Given the description of an element on the screen output the (x, y) to click on. 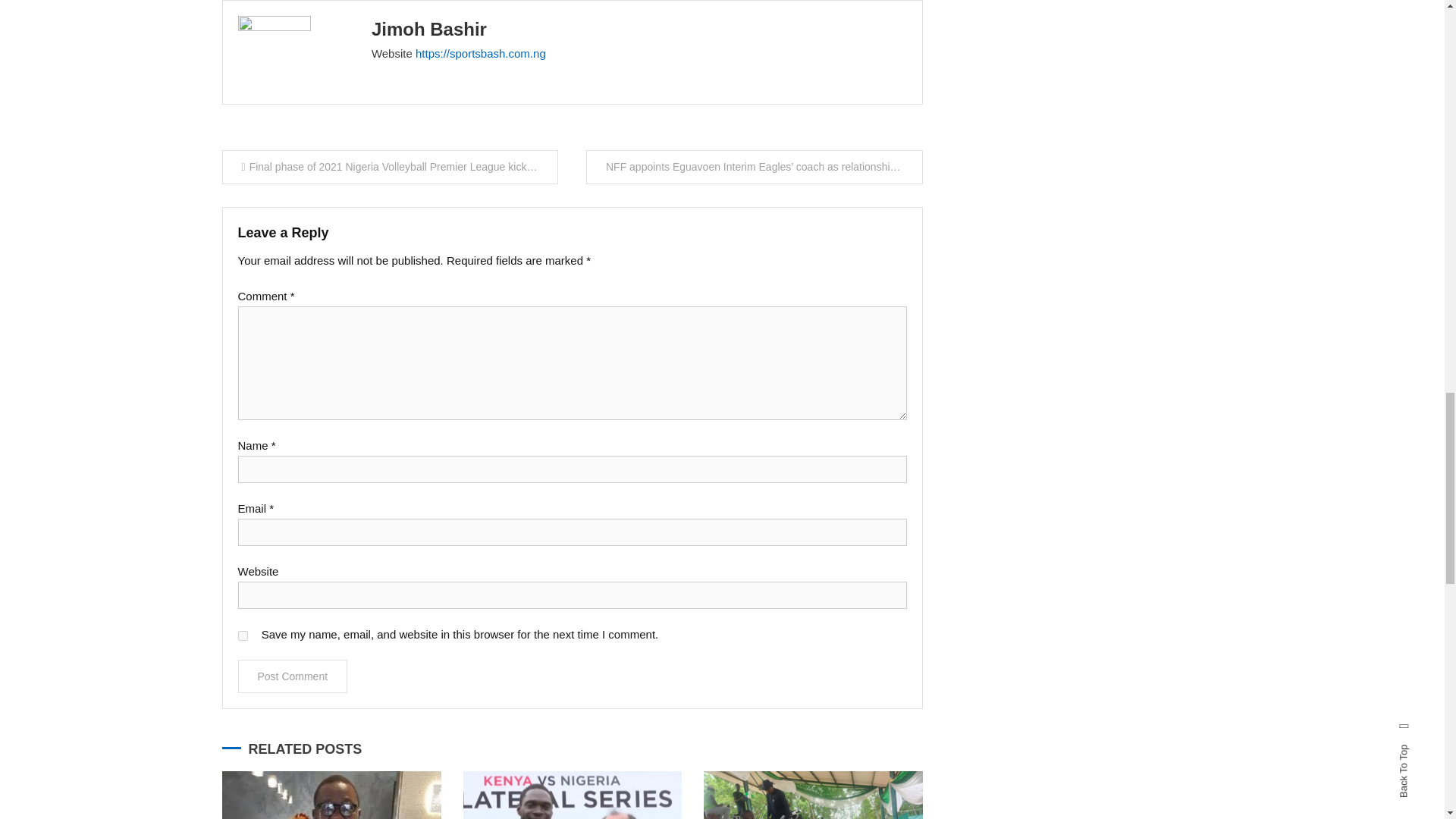
yes (242, 635)
Posts by Jimoh Bashir (428, 28)
Post Comment (292, 676)
